Given the description of an element on the screen output the (x, y) to click on. 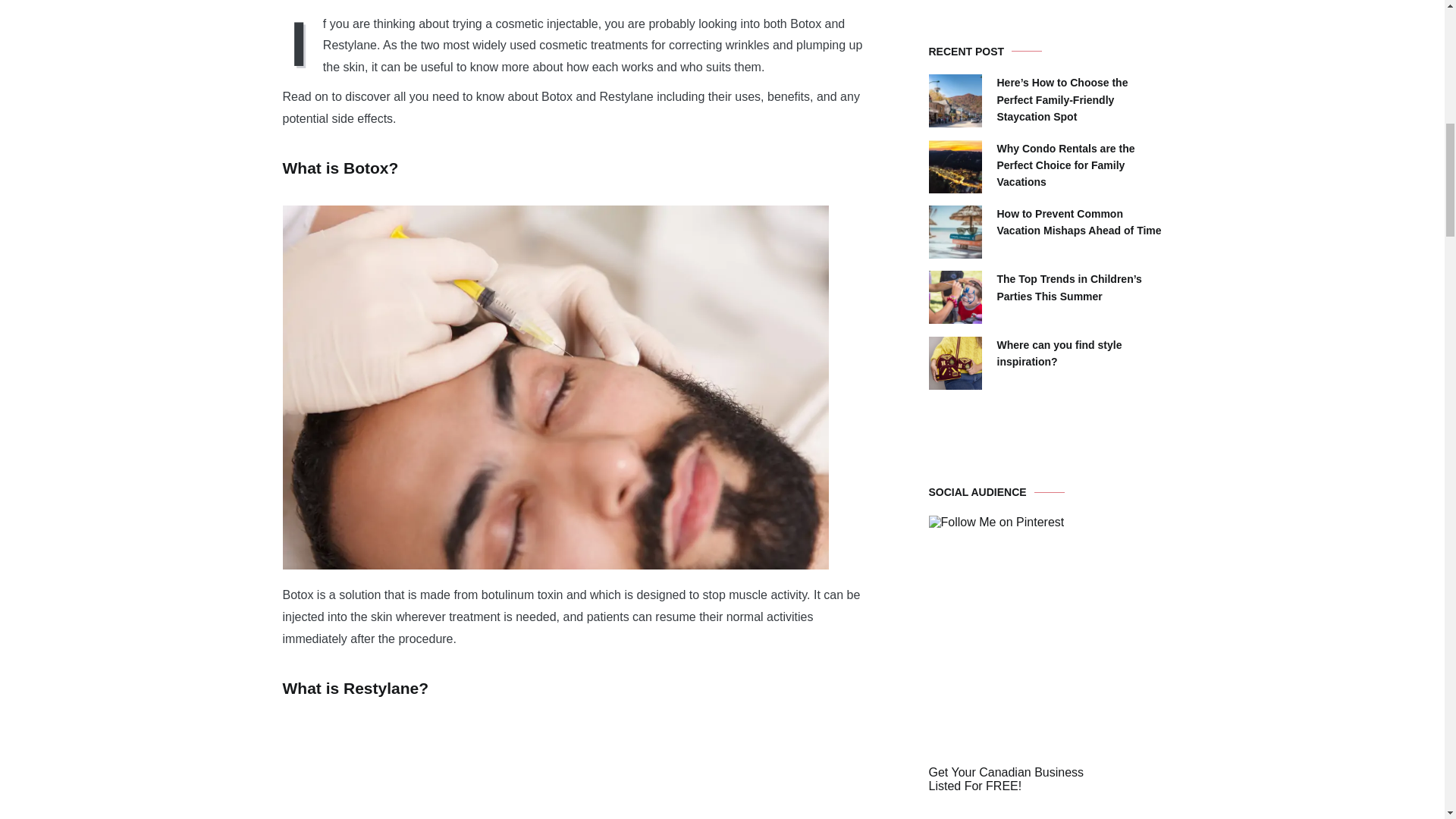
Get your Canadian Business Listed Today for FREE (1044, 758)
Get your Canadian Business Listed Today for FREE (1005, 778)
Web Domain Authority Certified (1018, 549)
